Given the description of an element on the screen output the (x, y) to click on. 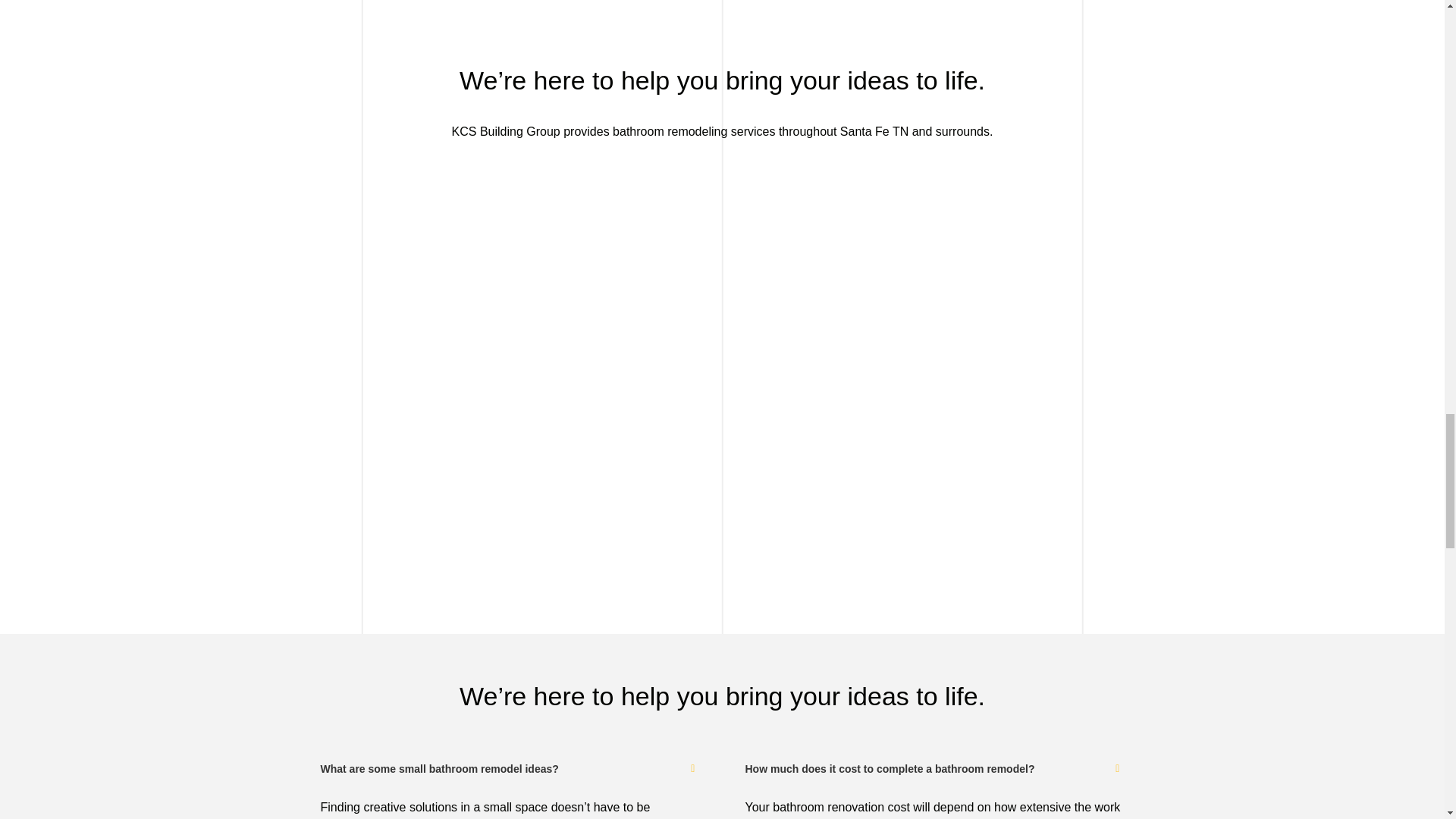
surrounds (963, 131)
bathroom remodeling services (693, 131)
